Given the description of an element on the screen output the (x, y) to click on. 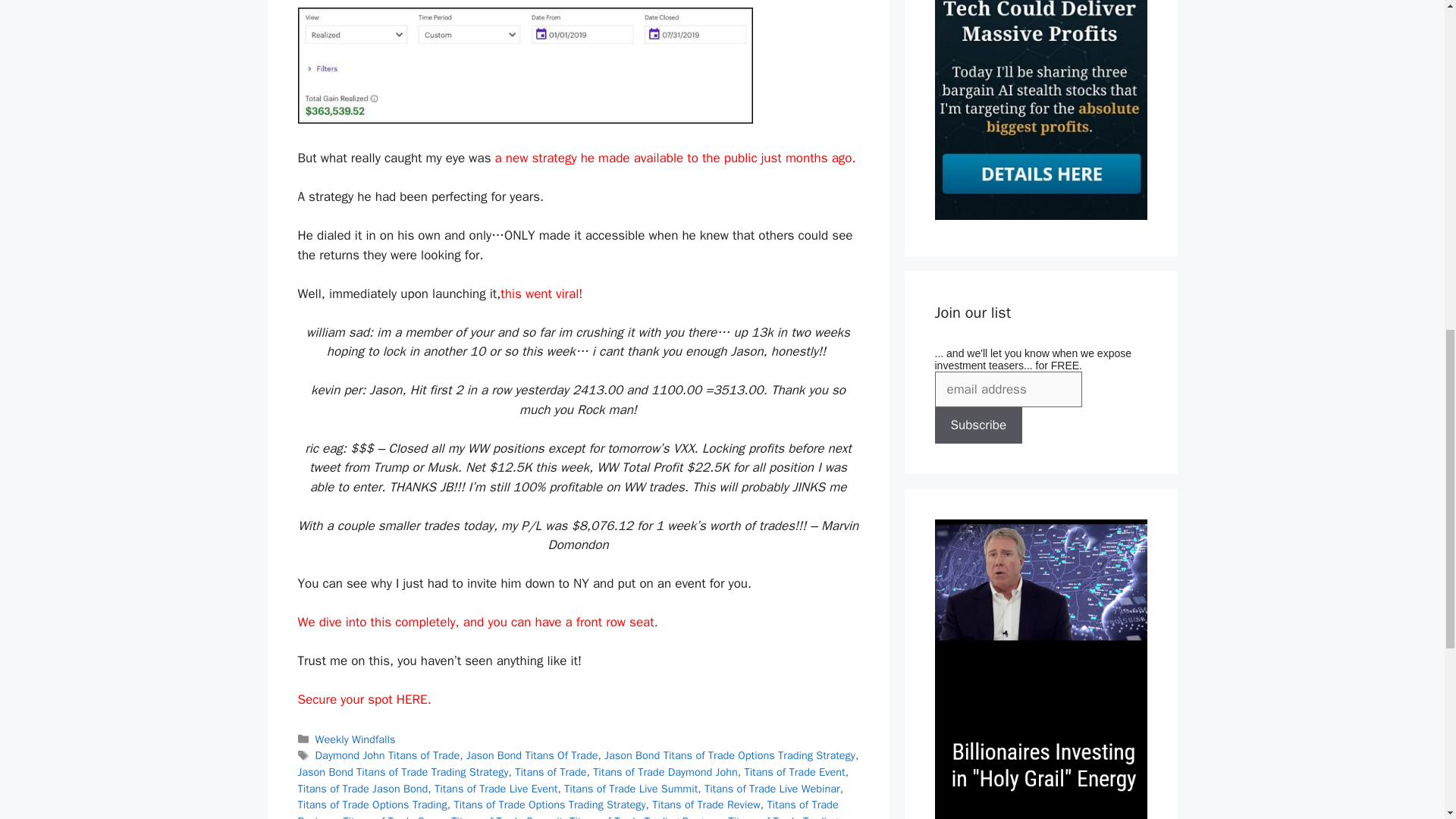
Titans of Trade Options Trading (371, 804)
Jason Bond Titans Of Trade (531, 755)
Titans of Trade Review (706, 804)
Titans of Trade Scam (393, 816)
Jason Bond Titans of Trade Trading Strategy (402, 771)
Weekly Windfalls (355, 739)
Titans of Trade Options Trading Strategy (548, 804)
Subscribe (978, 425)
Jason Bond Titans of Trade Options Trading Strategy (730, 755)
Titans of Trade Trading Program (645, 816)
Titans of Trade Live Summit (630, 788)
Manward Money Report Review (1040, 215)
this went viral! (541, 293)
